Given the description of an element on the screen output the (x, y) to click on. 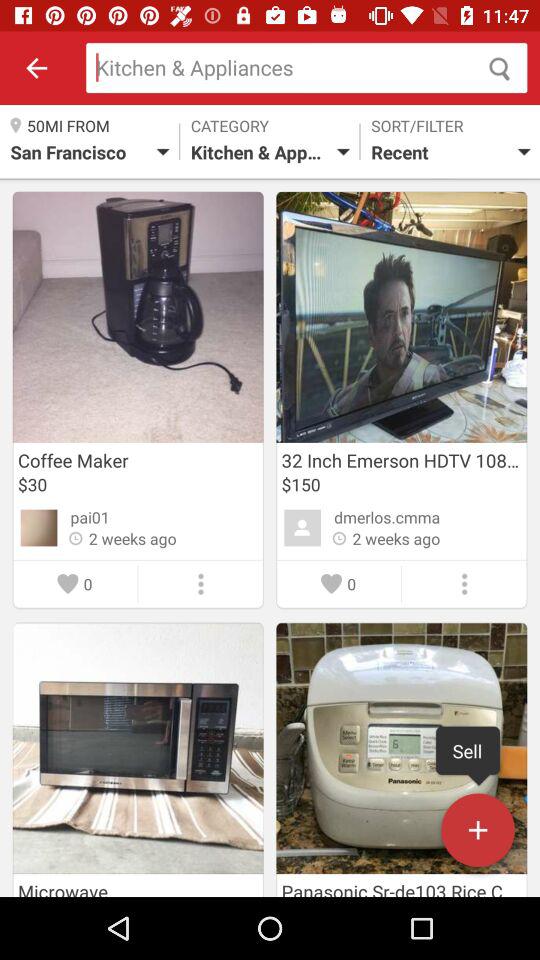
go back (36, 68)
